Given the description of an element on the screen output the (x, y) to click on. 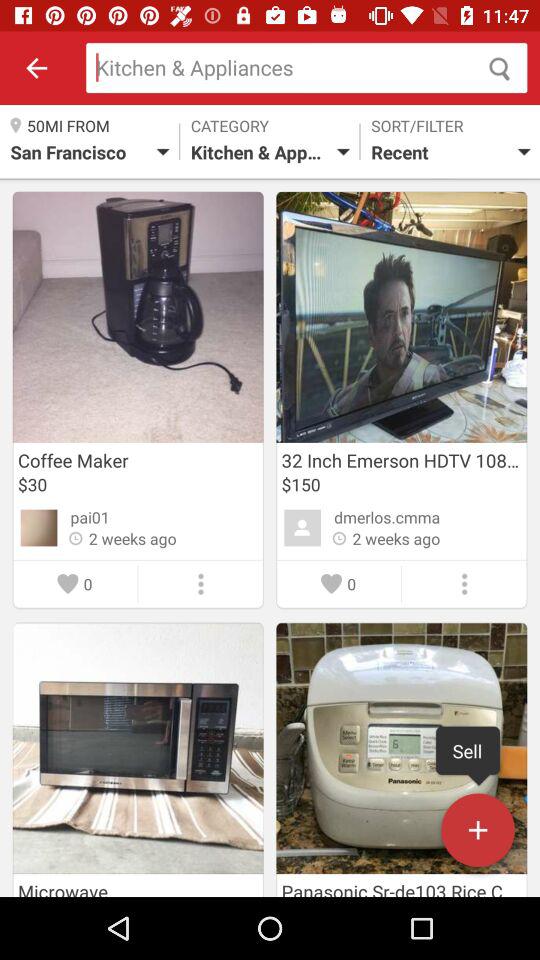
go back (36, 68)
